Given the description of an element on the screen output the (x, y) to click on. 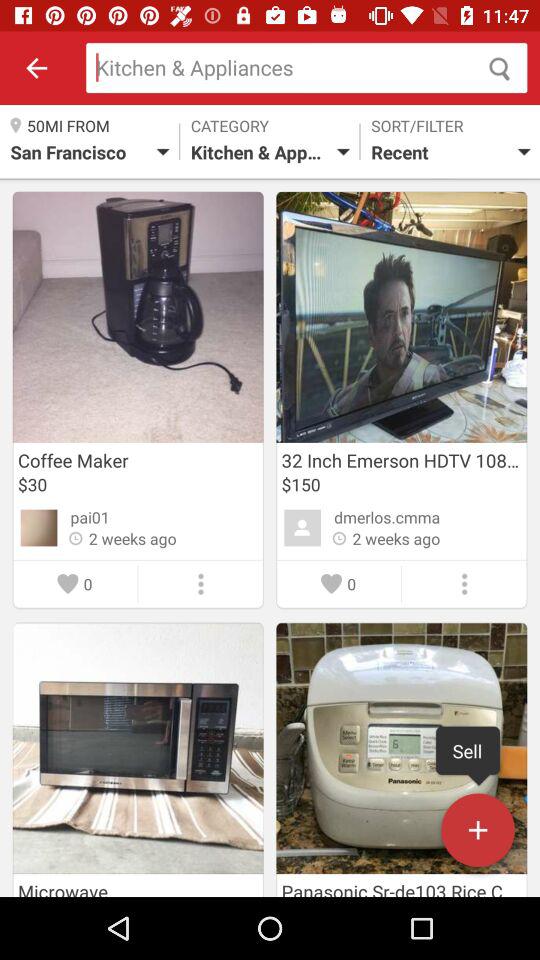
go back (36, 68)
